Given the description of an element on the screen output the (x, y) to click on. 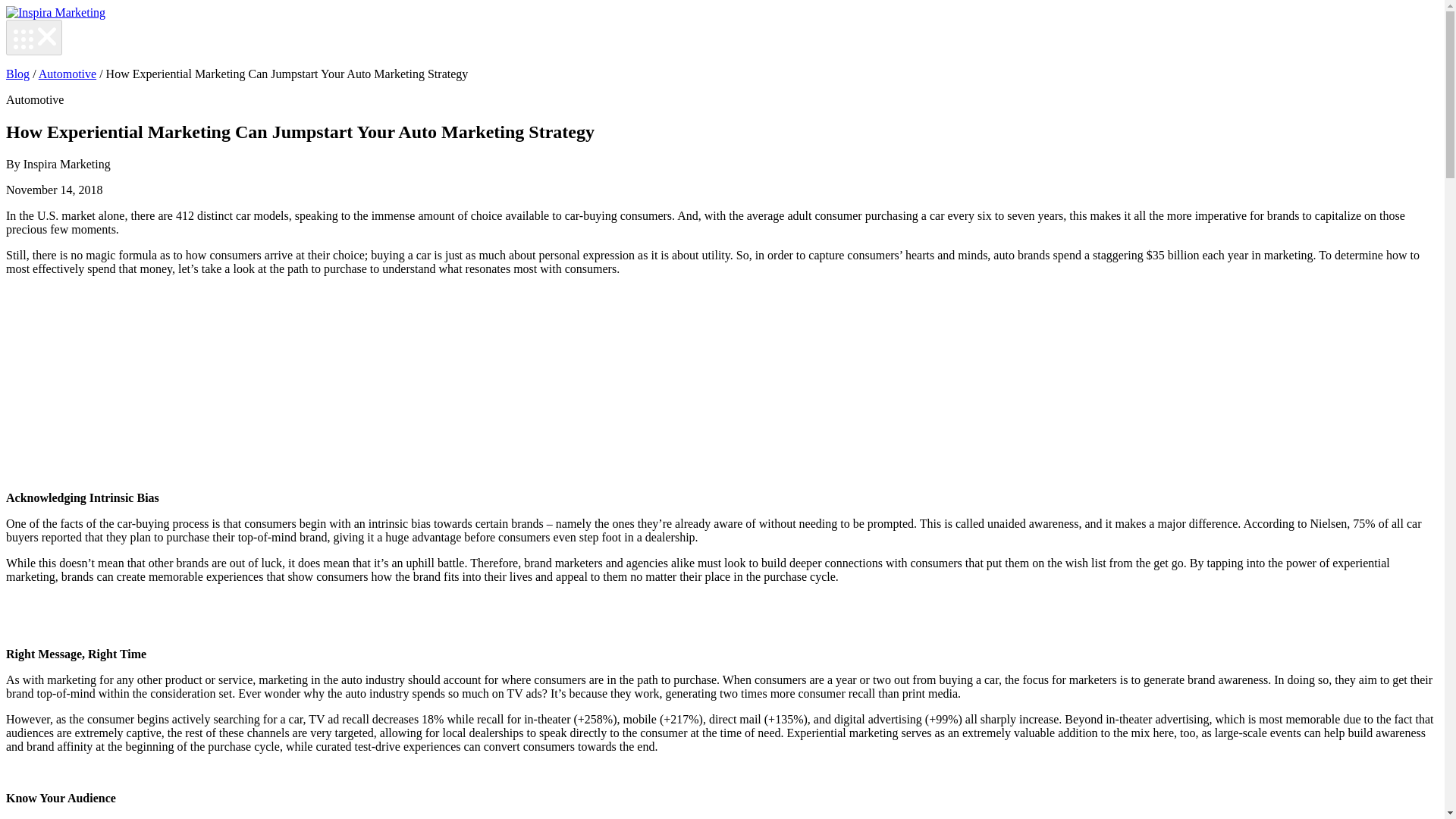
Automotive (67, 73)
Inspira Marketing (54, 11)
Blog (17, 73)
